Given the description of an element on the screen output the (x, y) to click on. 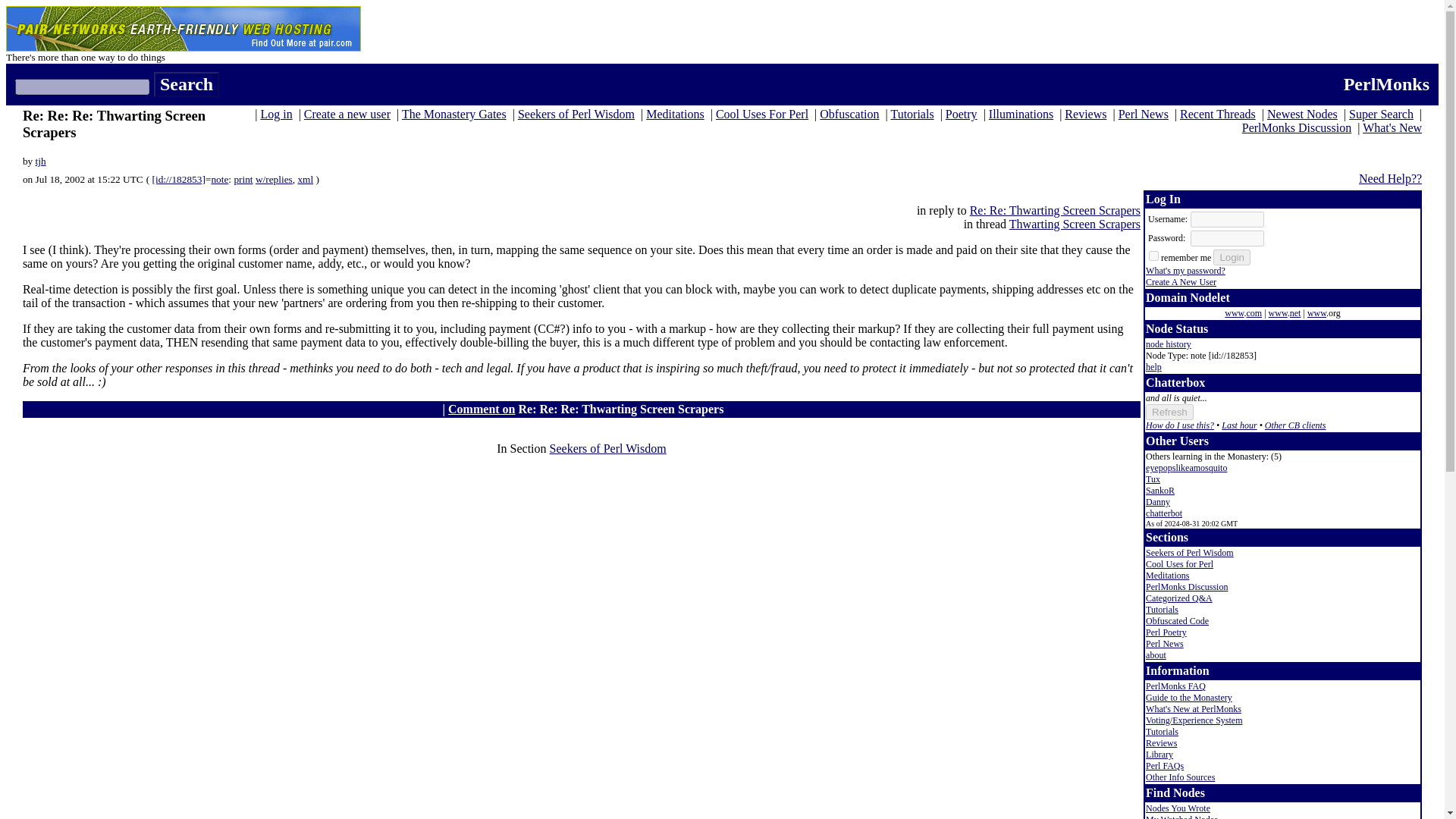
Super Search (1381, 113)
Create A New User (1180, 281)
Seekers of Perl Wisdom (576, 113)
Seekers of Perl Wisdom (608, 448)
Log in (276, 113)
Search (186, 84)
net (1295, 312)
Perl News (1143, 113)
com (1254, 312)
